Given the description of an element on the screen output the (x, y) to click on. 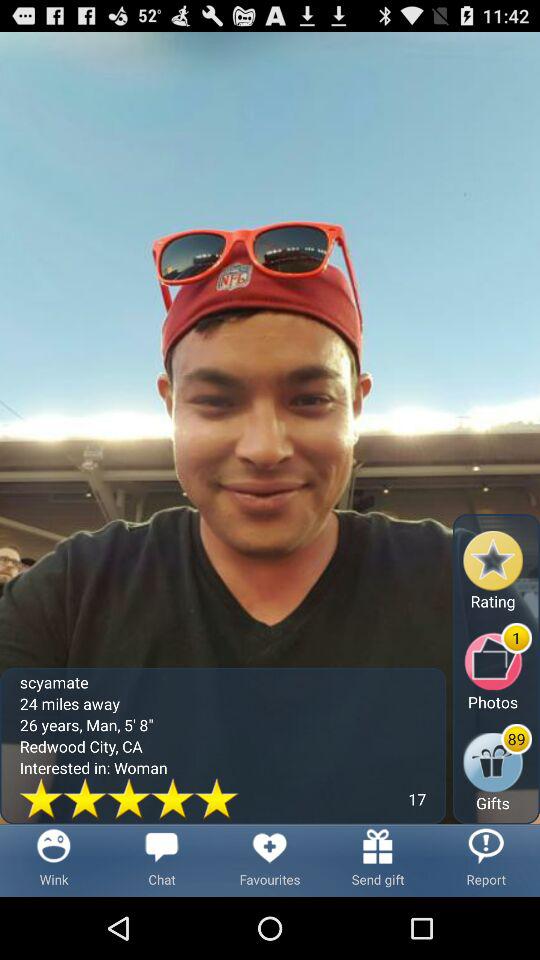
open button to the right of favourites button (378, 860)
